Given the description of an element on the screen output the (x, y) to click on. 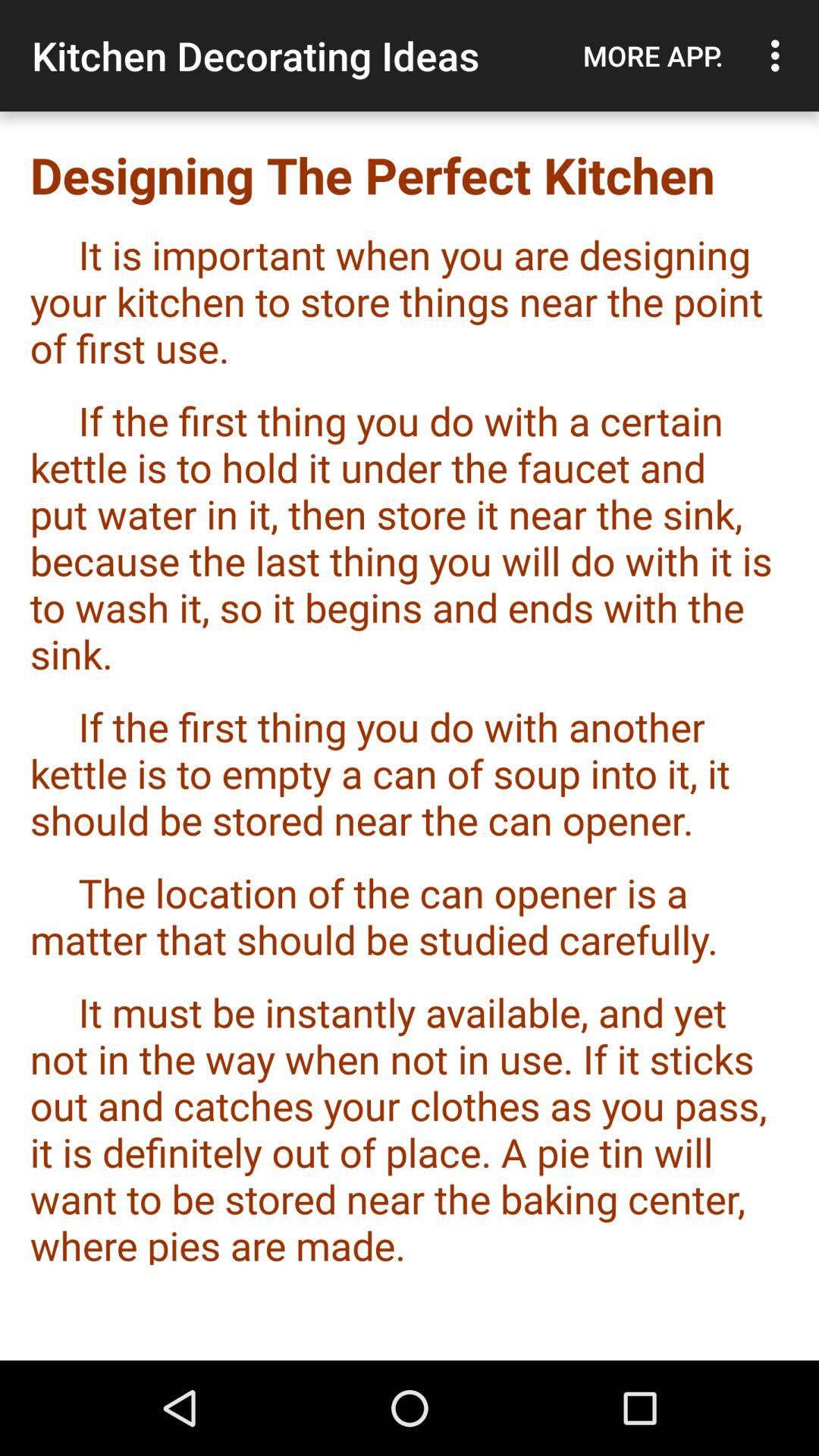
launch icon next to kitchen decorating ideas icon (653, 55)
